Given the description of an element on the screen output the (x, y) to click on. 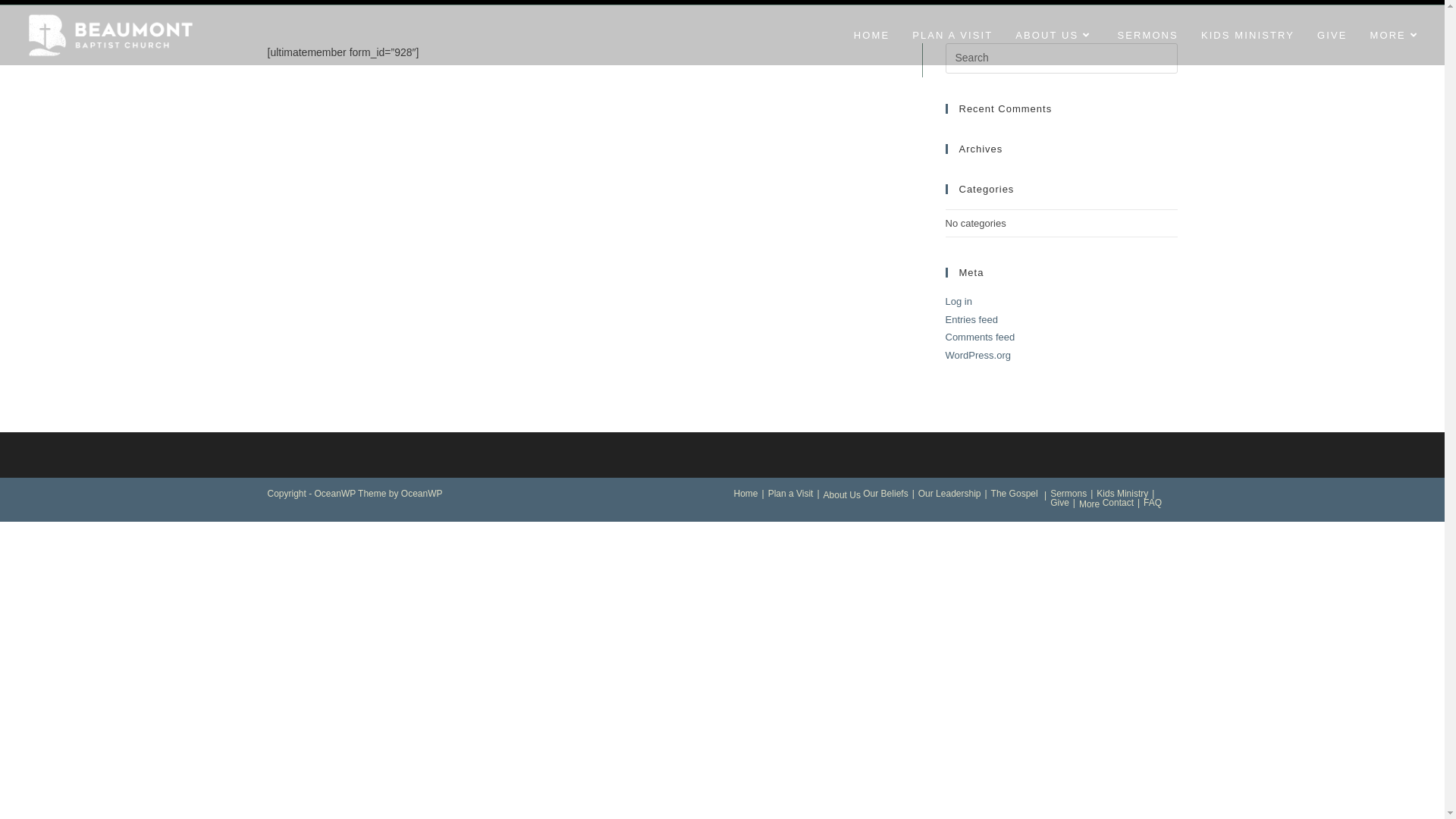
More Element type: text (1089, 503)
HOME Element type: text (871, 35)
Sermons Element type: text (1068, 493)
Home Element type: text (746, 493)
Entries feed Element type: text (970, 319)
The Gospel Element type: text (1014, 493)
Comments feed Element type: text (979, 336)
WordPress.org Element type: text (977, 354)
Our Leadership Element type: text (949, 493)
Log in Element type: text (957, 301)
PLAN A VISIT Element type: text (952, 35)
Kids Ministry Element type: text (1122, 493)
SERMONS Element type: text (1147, 35)
KIDS MINISTRY Element type: text (1247, 35)
Our Beliefs Element type: text (884, 493)
MORE Element type: text (1395, 35)
Give Element type: text (1059, 502)
About Us Element type: text (841, 494)
GIVE Element type: text (1331, 35)
Plan a Visit Element type: text (790, 493)
Contact Element type: text (1117, 502)
FAQ Element type: text (1152, 502)
ABOUT US Element type: text (1054, 35)
